Given the description of an element on the screen output the (x, y) to click on. 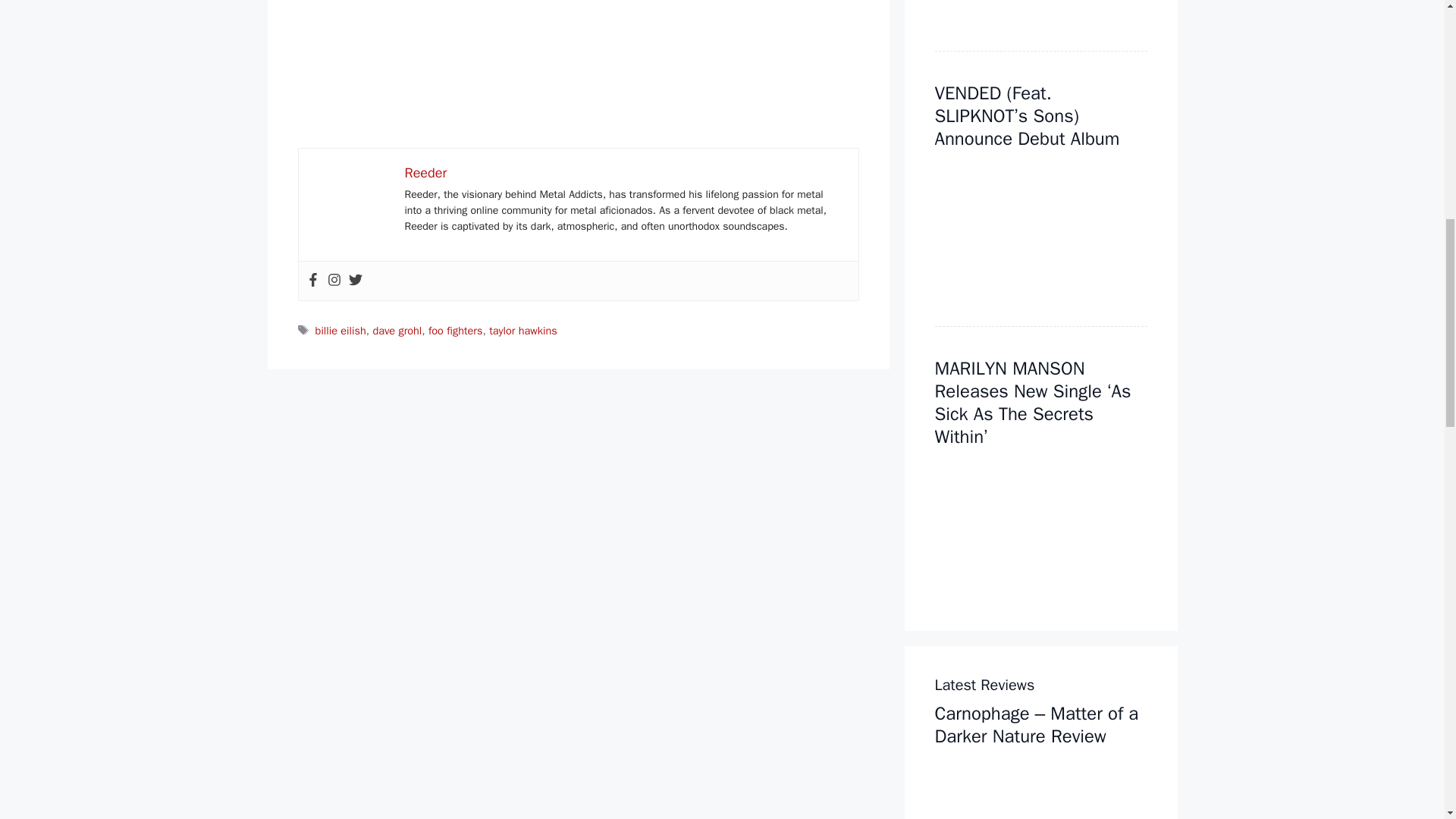
foo fighters (455, 330)
taylor hawkins (523, 330)
dave grohl (397, 330)
billie eilish (340, 330)
Reeder (425, 172)
